Given the description of an element on the screen output the (x, y) to click on. 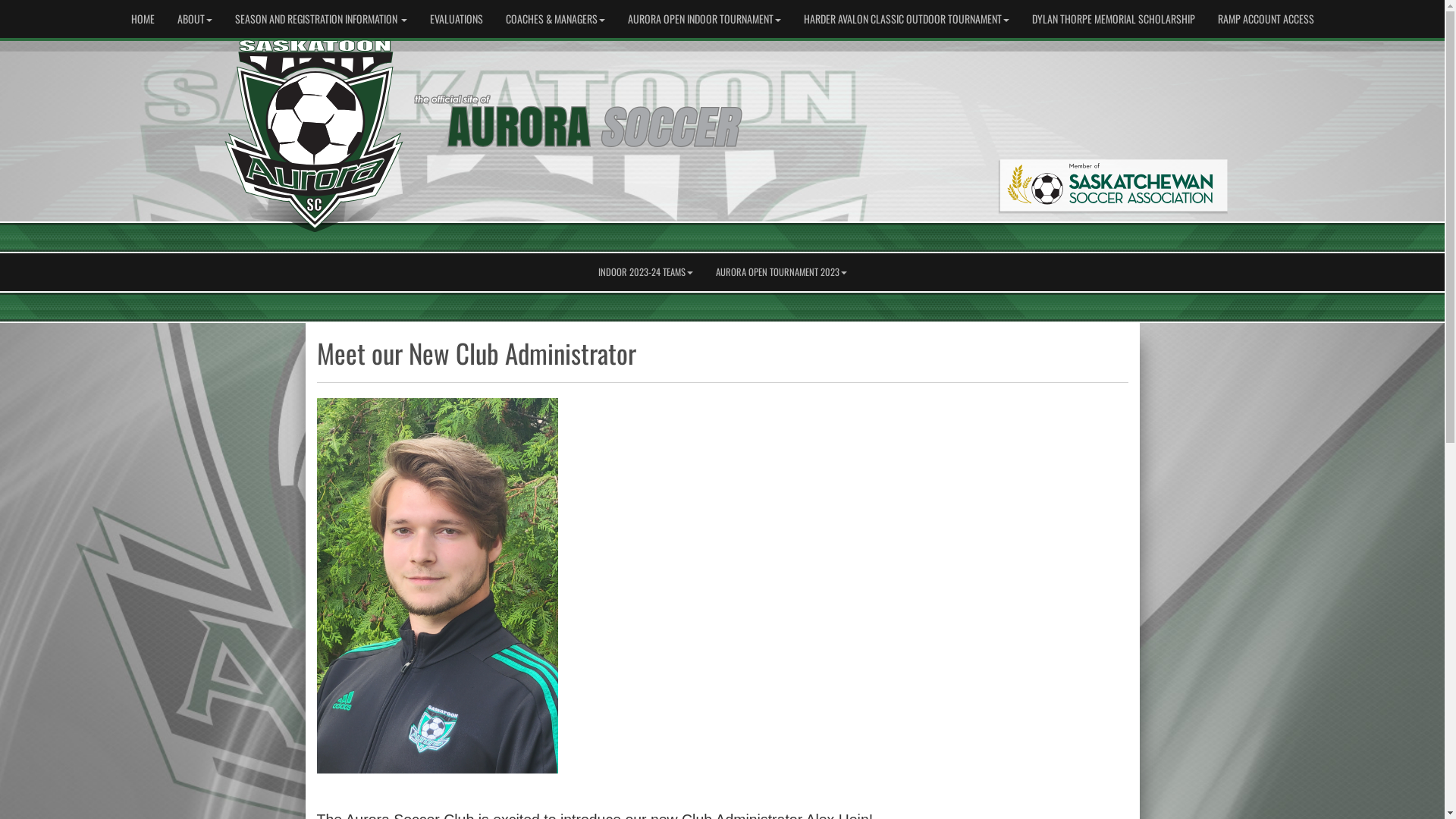
SEASON AND REGISTRATION INFORMATION Element type: text (319, 18)
DYLAN THORPE MEMORIAL SCHOLARSHIP Element type: text (1113, 18)
AURORA OPEN TOURNAMENT 2023 Element type: text (780, 272)
INDOOR 2023-24 TEAMS Element type: text (645, 272)
AURORA OPEN INDOOR TOURNAMENT Element type: text (703, 18)
EVALUATIONS Element type: text (456, 18)
HARDER AVALON CLASSIC OUTDOOR TOURNAMENT Element type: text (905, 18)
HOME Element type: text (142, 18)
ABOUT Element type: text (193, 18)
RAMP ACCOUNT ACCESS Element type: text (1264, 18)
COACHES & MANAGERS Element type: text (555, 18)
